Given the description of an element on the screen output the (x, y) to click on. 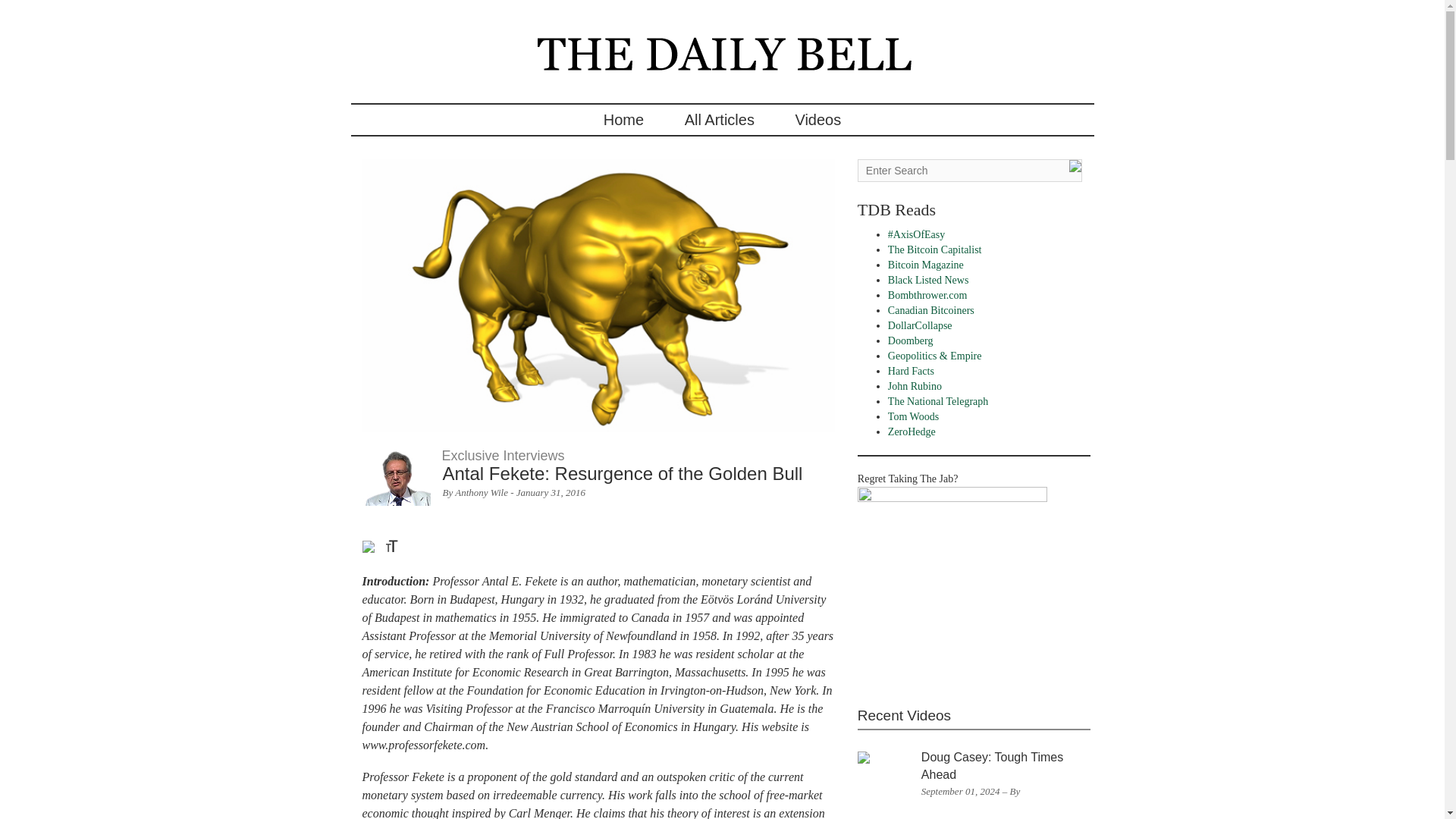
Videos (818, 119)
John Rubino (915, 386)
Doomberg (910, 340)
Canadian Bitcoiners (931, 310)
The Bitcoin Capitalist (934, 249)
Black Listed News (928, 279)
The National Telegraph (938, 401)
Home (623, 119)
Tom Woods (913, 416)
Hard Facts (911, 370)
